Given the description of an element on the screen output the (x, y) to click on. 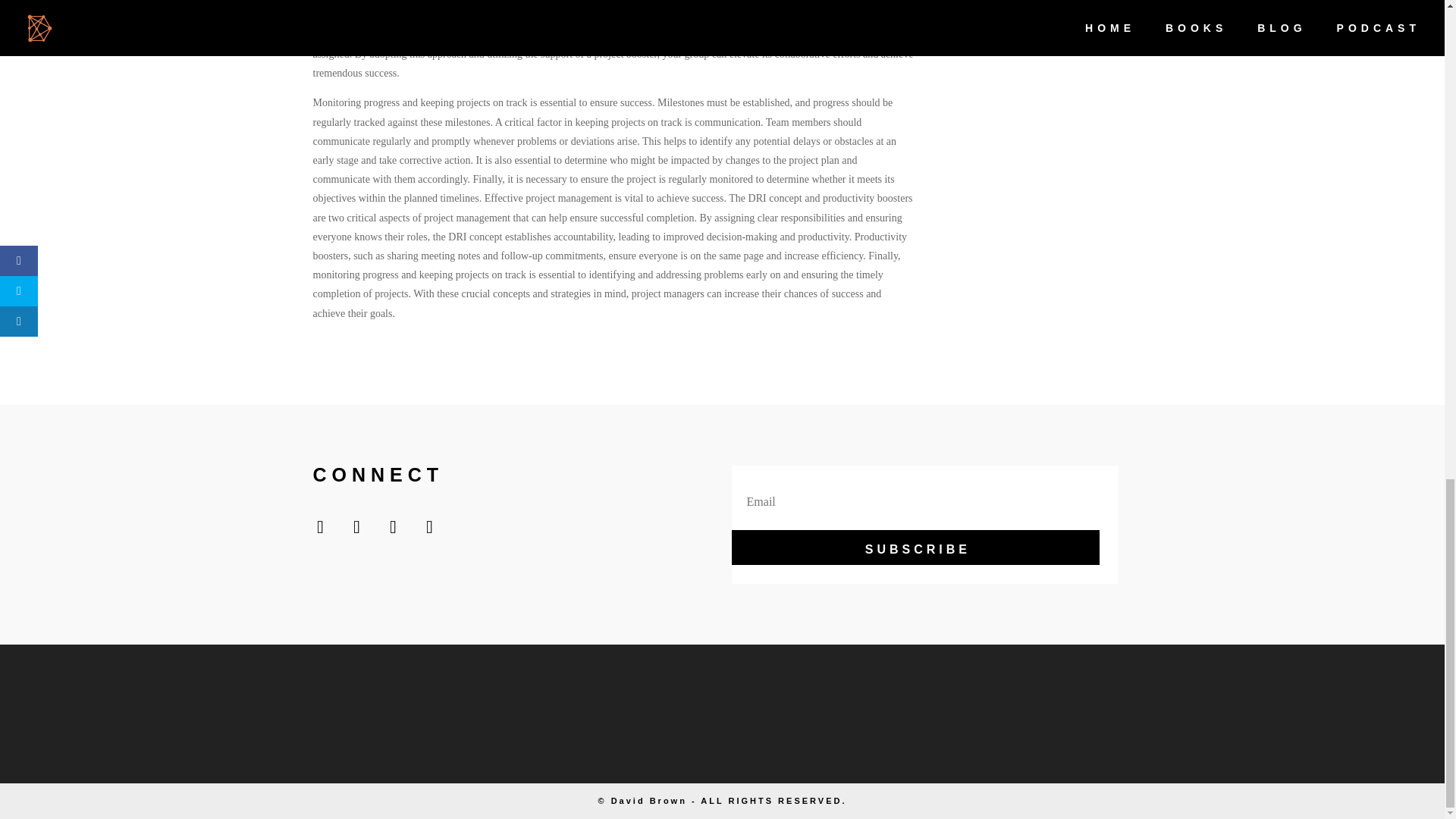
SUBSCRIBE (915, 547)
Follow on Twitter (355, 530)
Follow on LinkedIn (428, 530)
Follow on Facebook (319, 530)
Follow on Instagram (392, 530)
